Given the description of an element on the screen output the (x, y) to click on. 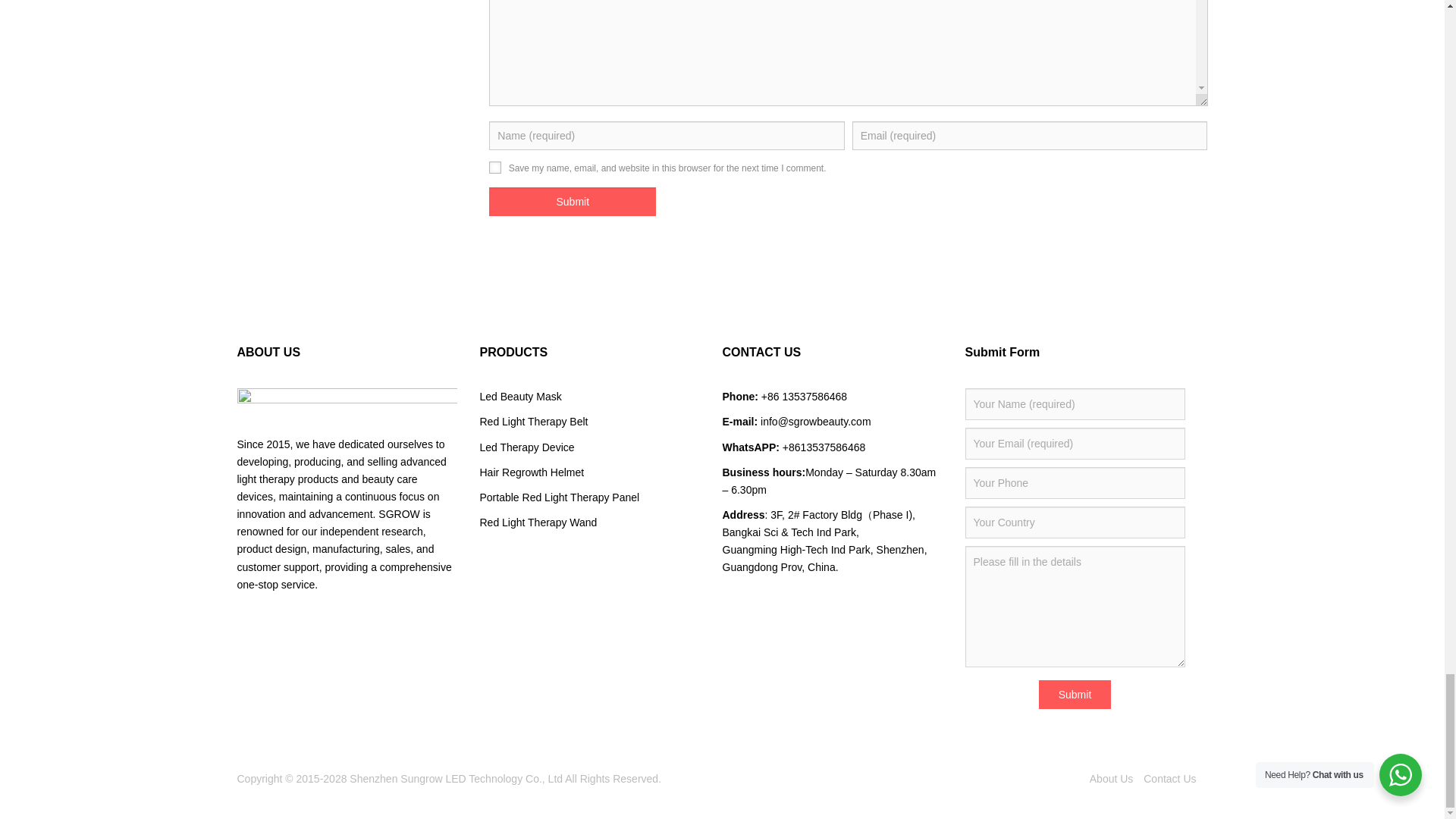
yes (494, 167)
Submit (572, 201)
